Given the description of an element on the screen output the (x, y) to click on. 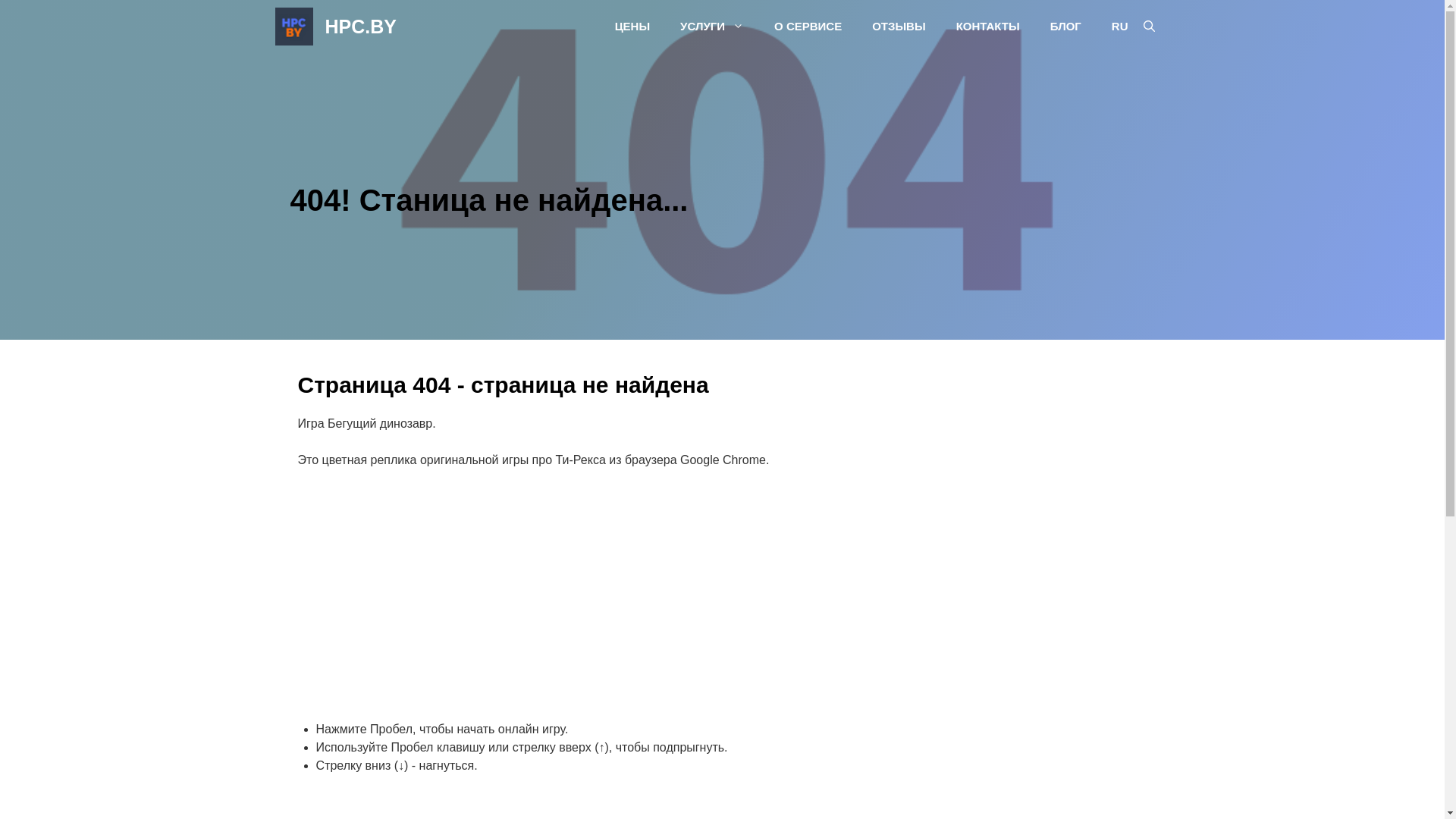
HPC.BY Element type: text (359, 26)
RU Element type: text (1112, 26)
